Given the description of an element on the screen output the (x, y) to click on. 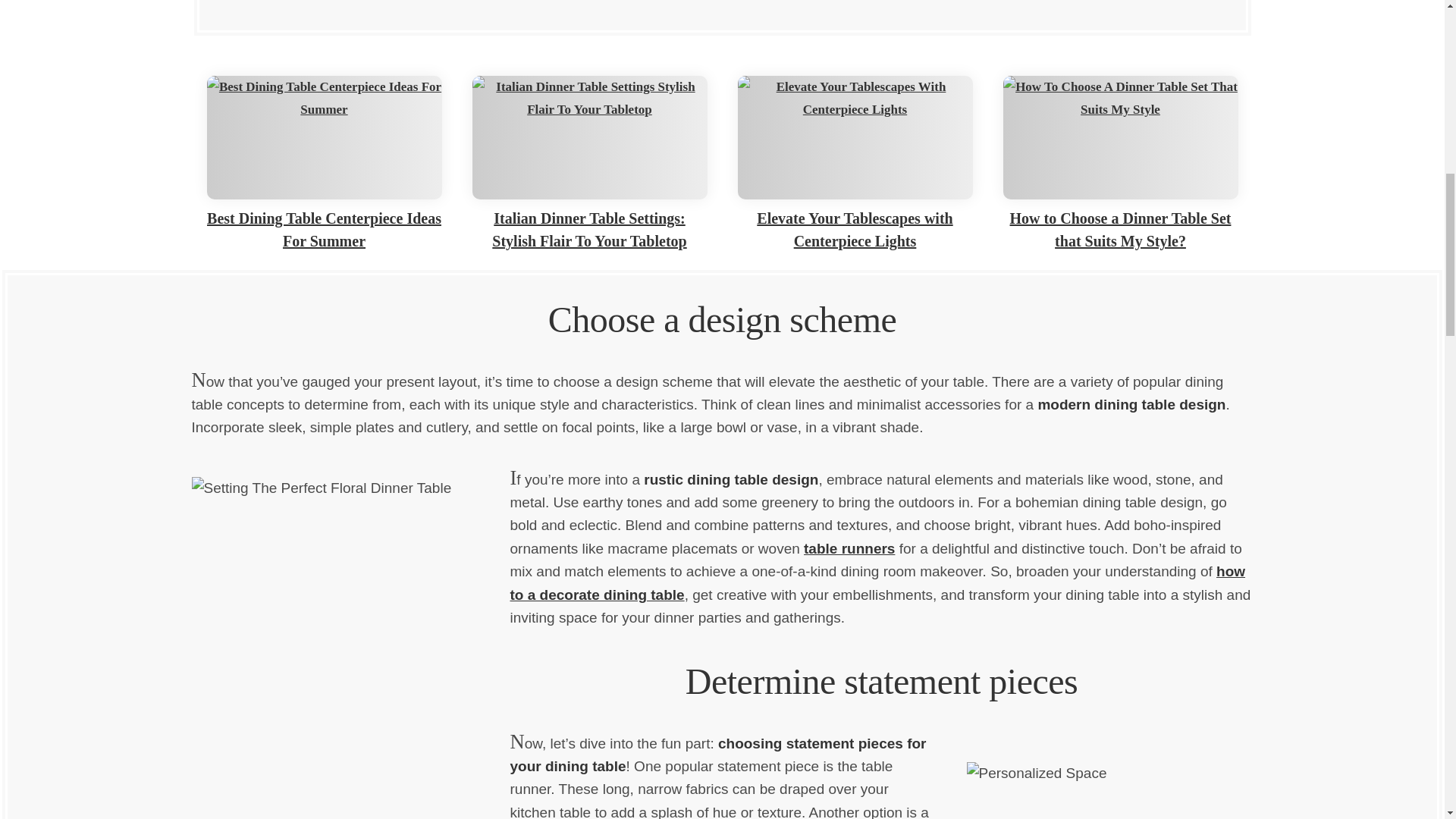
best dining table centerpiece ideas for summer (323, 137)
Setting The Perfect Floral Dinner Table (349, 642)
Personalized Space (1093, 774)
italian dinner table settings stylish flair to your tabletop (588, 137)
how to choose a dinner table set that suits my style (1120, 137)
elevate your tablescapes with centerpiece lights (854, 137)
